Given the description of an element on the screen output the (x, y) to click on. 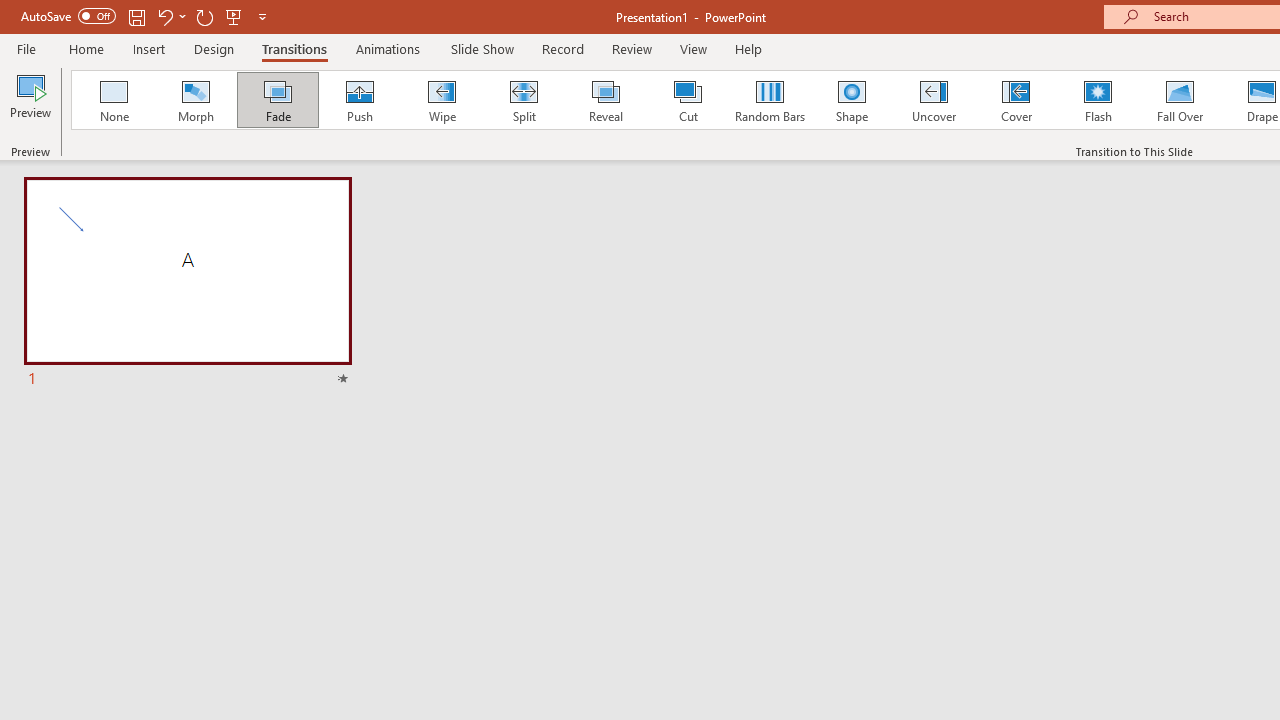
Push (359, 100)
Morph (195, 100)
Cover (1016, 100)
Fall Over (1180, 100)
